Given the description of an element on the screen output the (x, y) to click on. 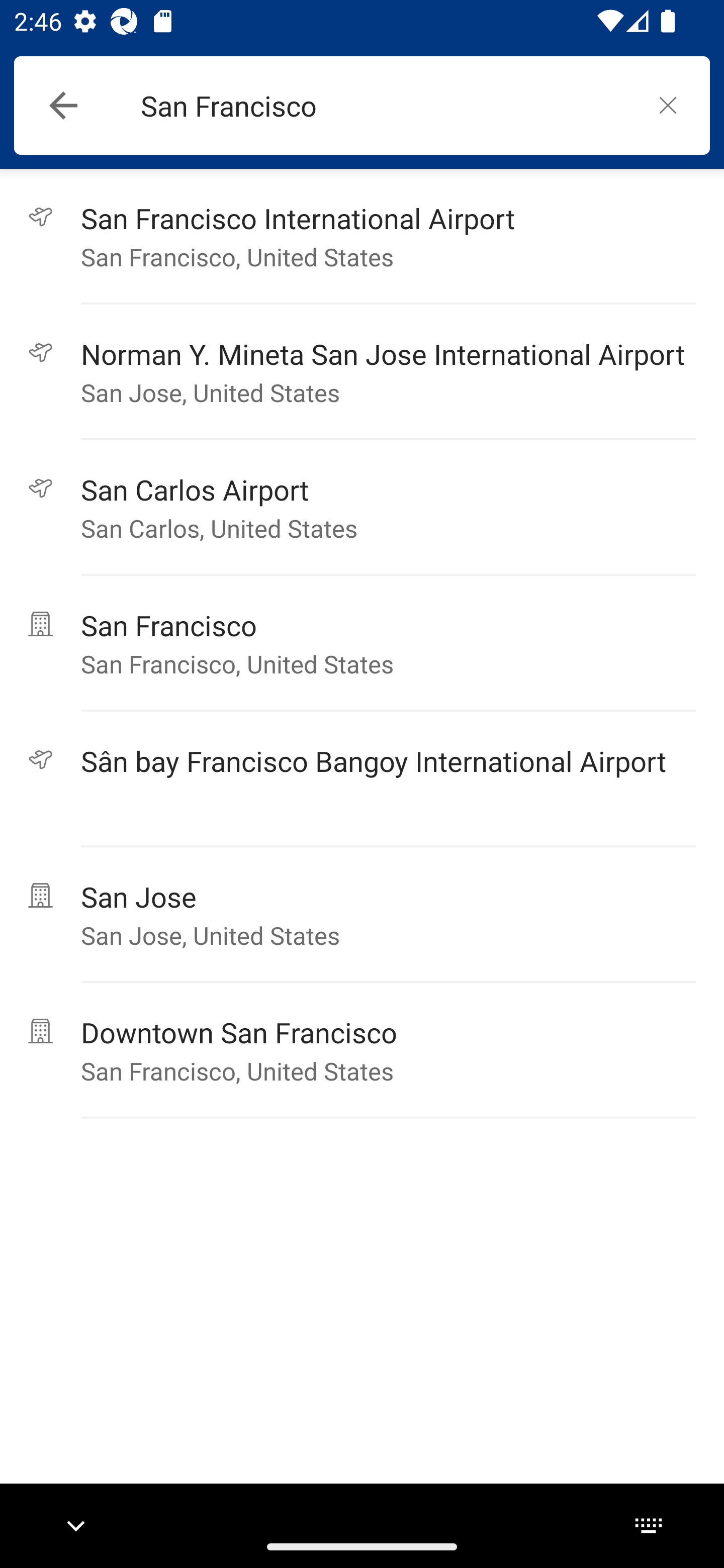
Navigate up (62, 105)
놕 (667, 104)
San Francisco (382, 105)
끭 San Carlos Airport San Carlos, United States (362, 507)
넭 San Francisco San Francisco, United States (362, 643)
끭 Sân bay Francisco Bangoy International Airport (362, 778)
넭 San Jose San Jose, United States (362, 914)
